Given the description of an element on the screen output the (x, y) to click on. 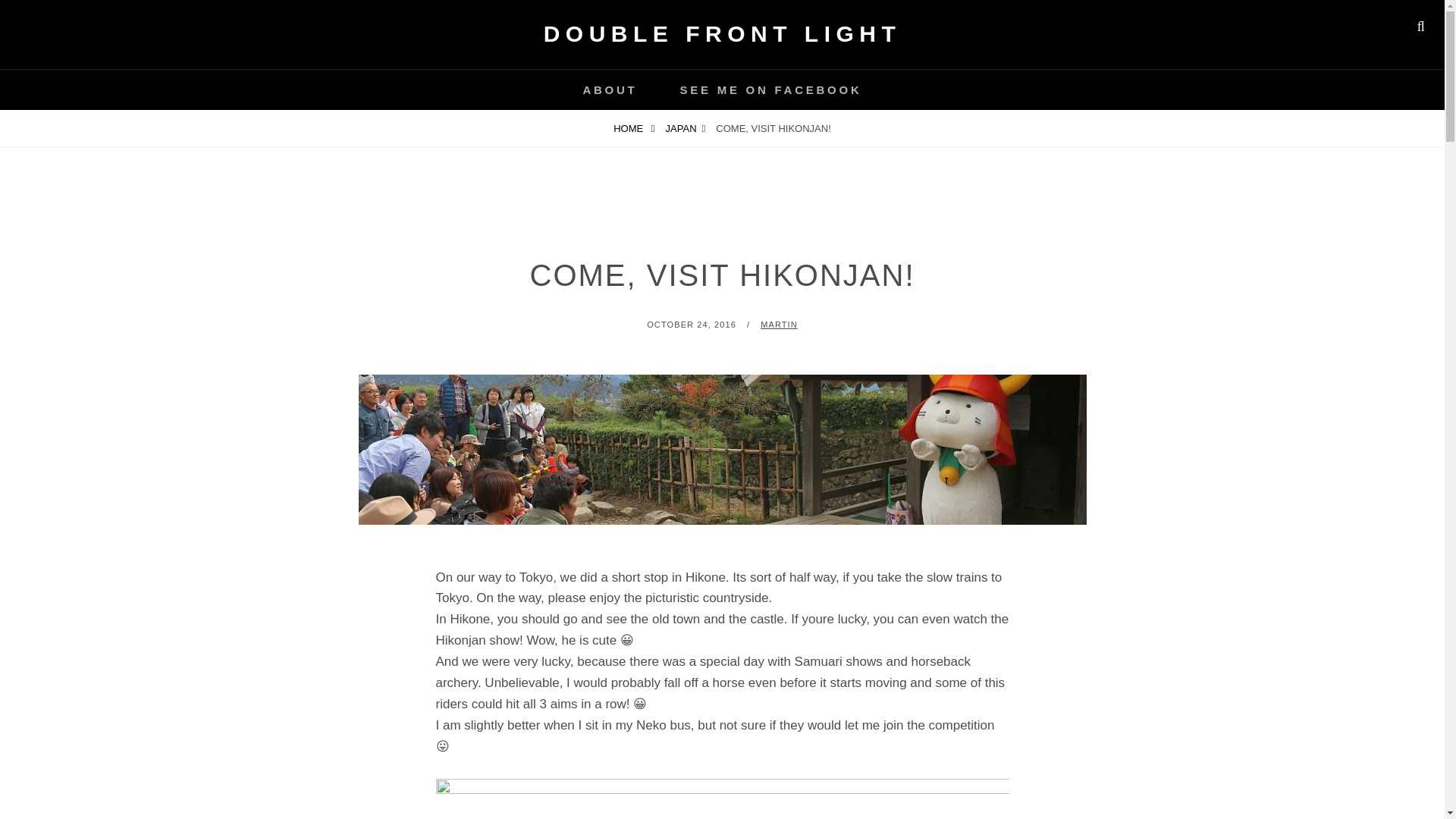
HOME (633, 128)
DOUBLE FRONT LIGHT (722, 33)
ABOUT (609, 89)
SEE ME ON FACEBOOK (771, 89)
JAPAN (686, 128)
MARTIN (778, 324)
